Given the description of an element on the screen output the (x, y) to click on. 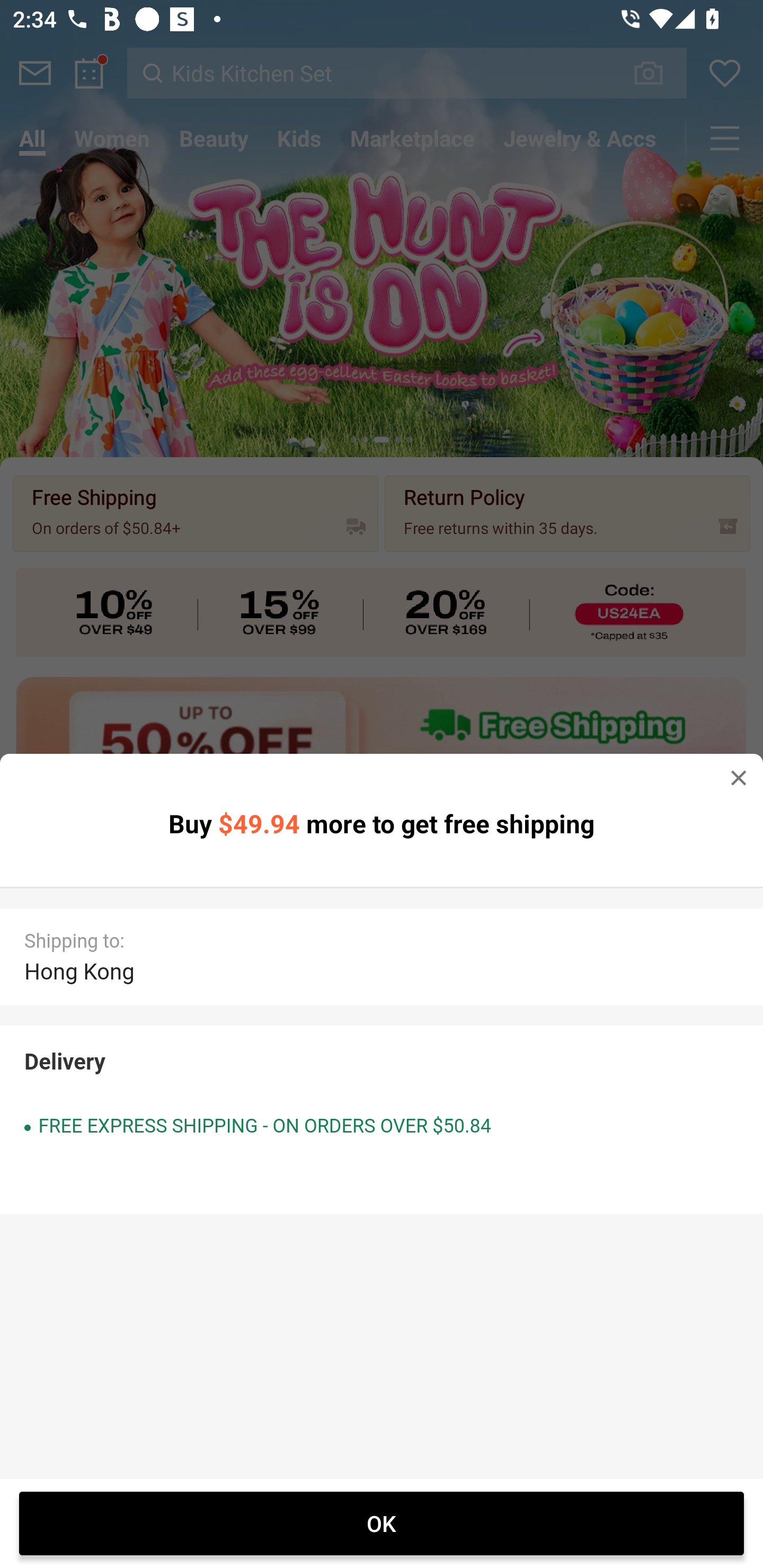
Shipping to: Hong Kong (381, 956)
OK (381, 1523)
